Given the description of an element on the screen output the (x, y) to click on. 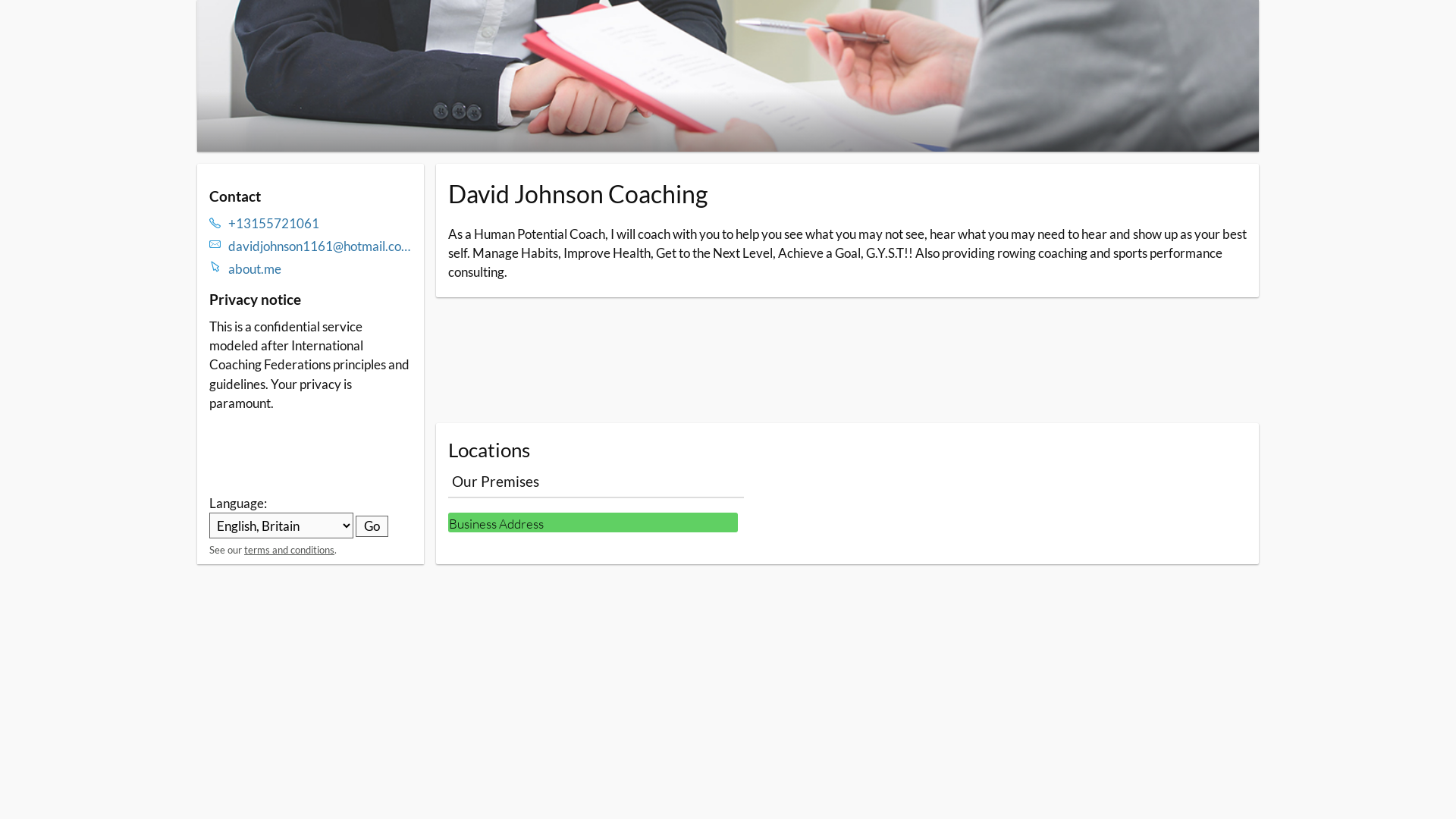
terms and conditions Element type: text (289, 549)
Go Element type: text (371, 525)
Skip to booking section Element type: text (286, 23)
davidjohnson1161@hotmail.com Element type: text (319, 245)
Booking widget Element type: hover (846, 360)
+13155721061 Element type: text (319, 222)
Business Address Element type: text (592, 522)
about.me Element type: text (319, 268)
